Given the description of an element on the screen output the (x, y) to click on. 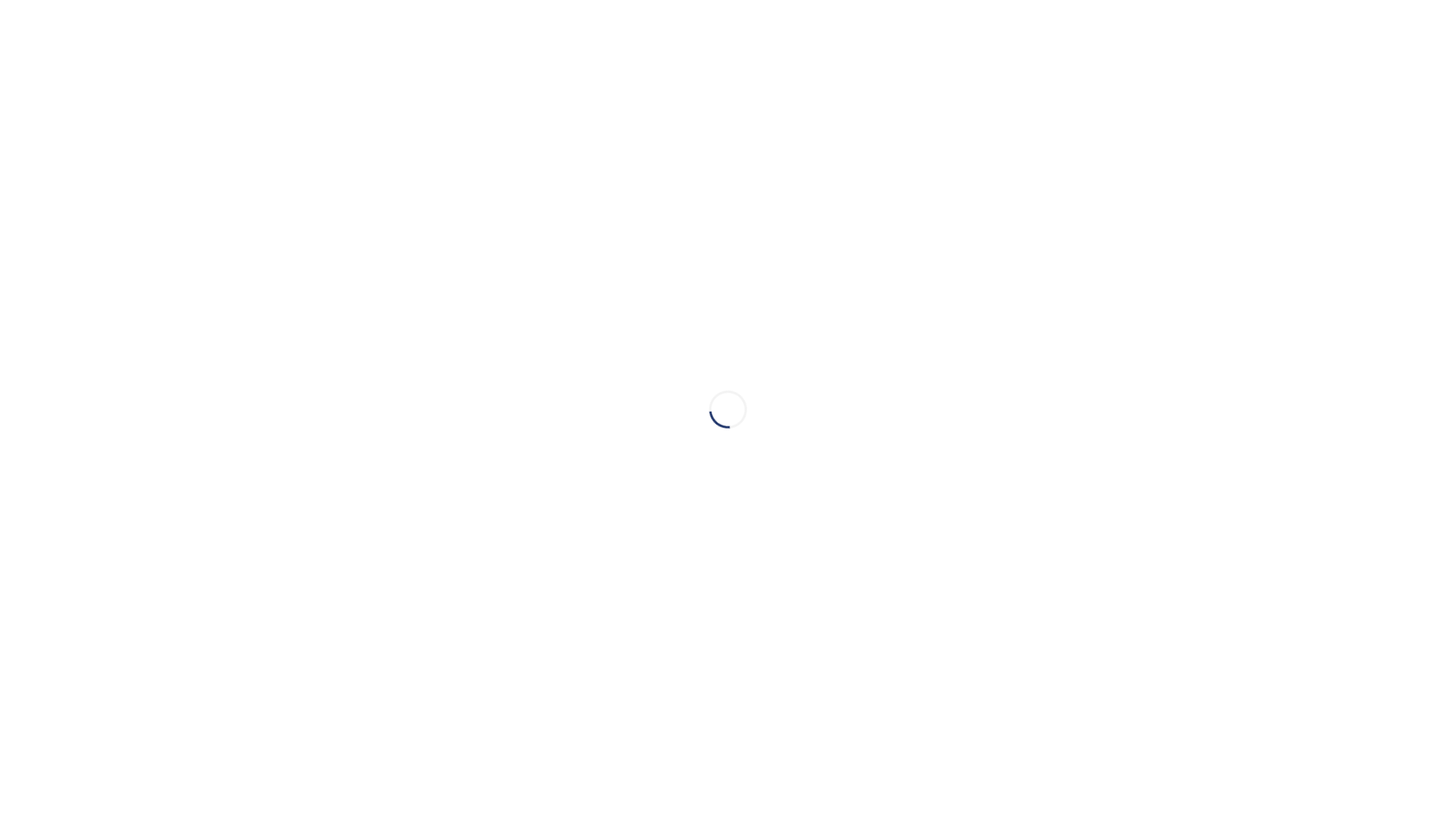
BY Element type: text (1406, 37)
RU Element type: text (1327, 37)
https://metzby.ru Element type: text (323, 608)
info@metz.by Element type: text (344, 577)
EN Element type: text (1367, 37)
